Given the description of an element on the screen output the (x, y) to click on. 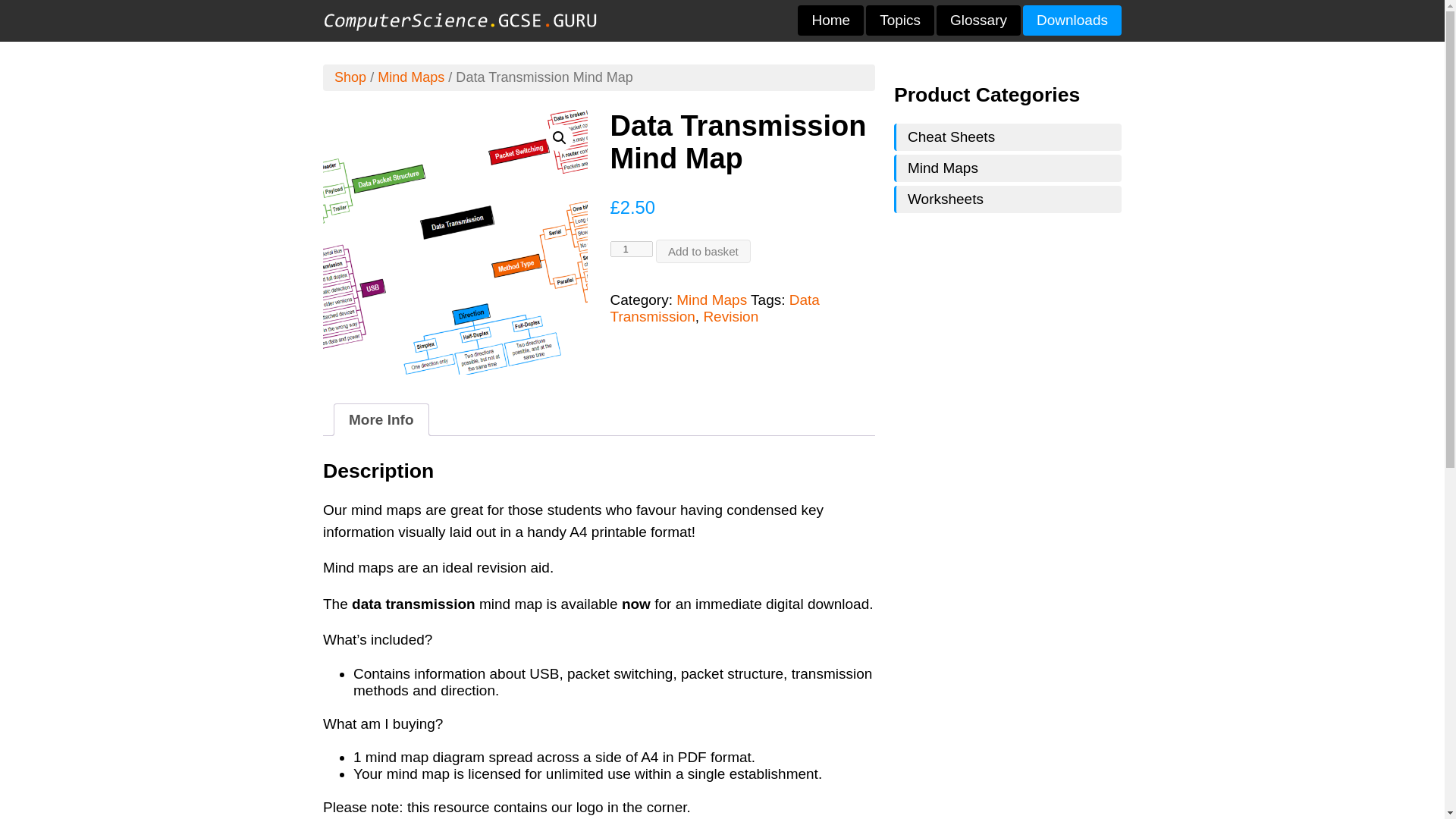
Add to basket (703, 250)
Glossary (978, 20)
Mind Maps (410, 77)
Downloads (1072, 20)
More Info (381, 419)
Mind Maps (1007, 167)
Worksheets (1007, 198)
DataTransmission (455, 241)
Data Transmission (714, 307)
Cheat Sheets (1007, 136)
